Given the description of an element on the screen output the (x, y) to click on. 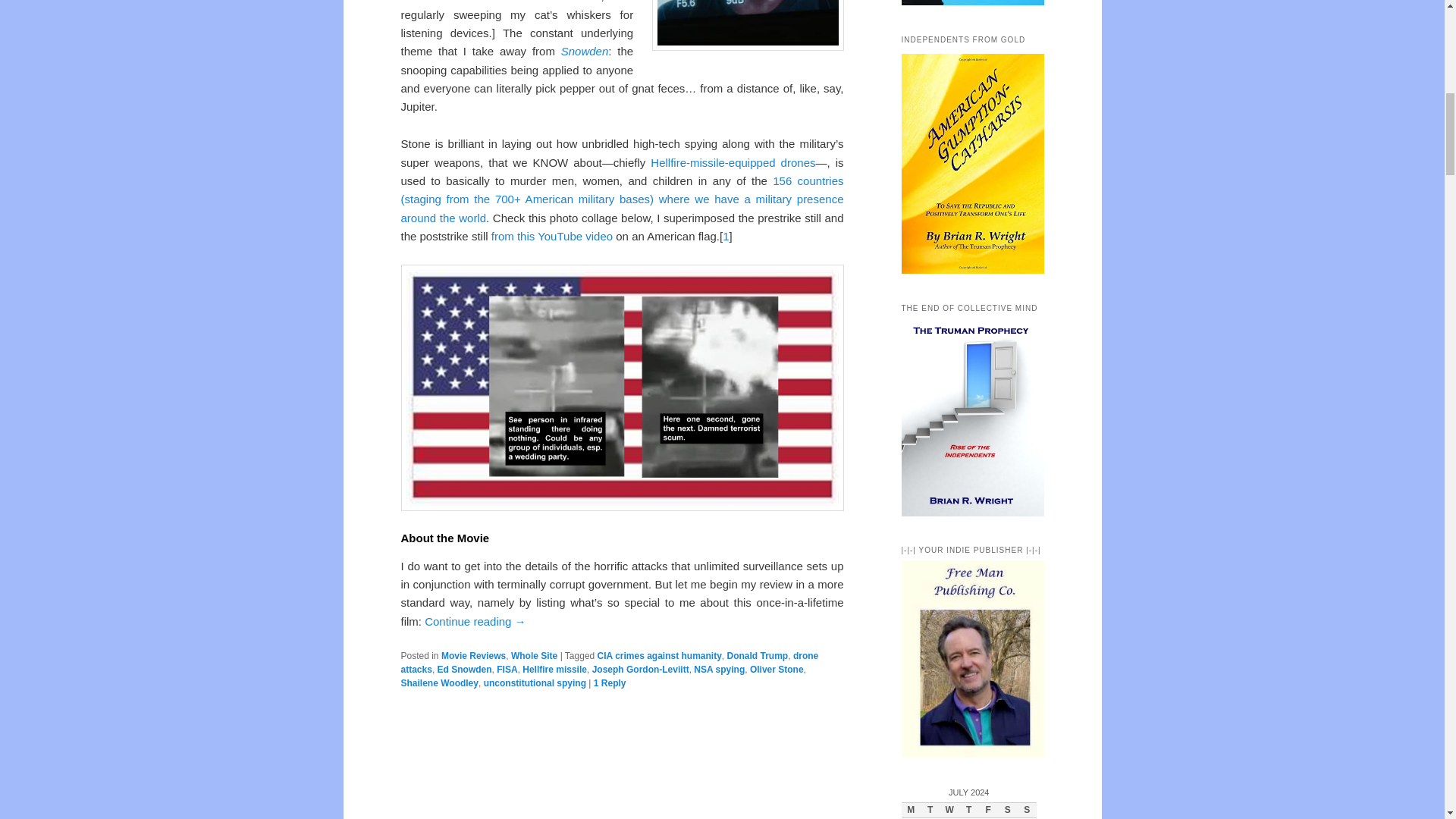
Friday (987, 810)
Snowden (584, 51)
Sunday (1026, 810)
Wednesday (949, 810)
Monday (910, 810)
from this YouTube video (552, 236)
Hellfire-missile-equipped drones (732, 162)
Thursday (968, 810)
Saturday (1007, 810)
Tuesday (930, 810)
